Given the description of an element on the screen output the (x, y) to click on. 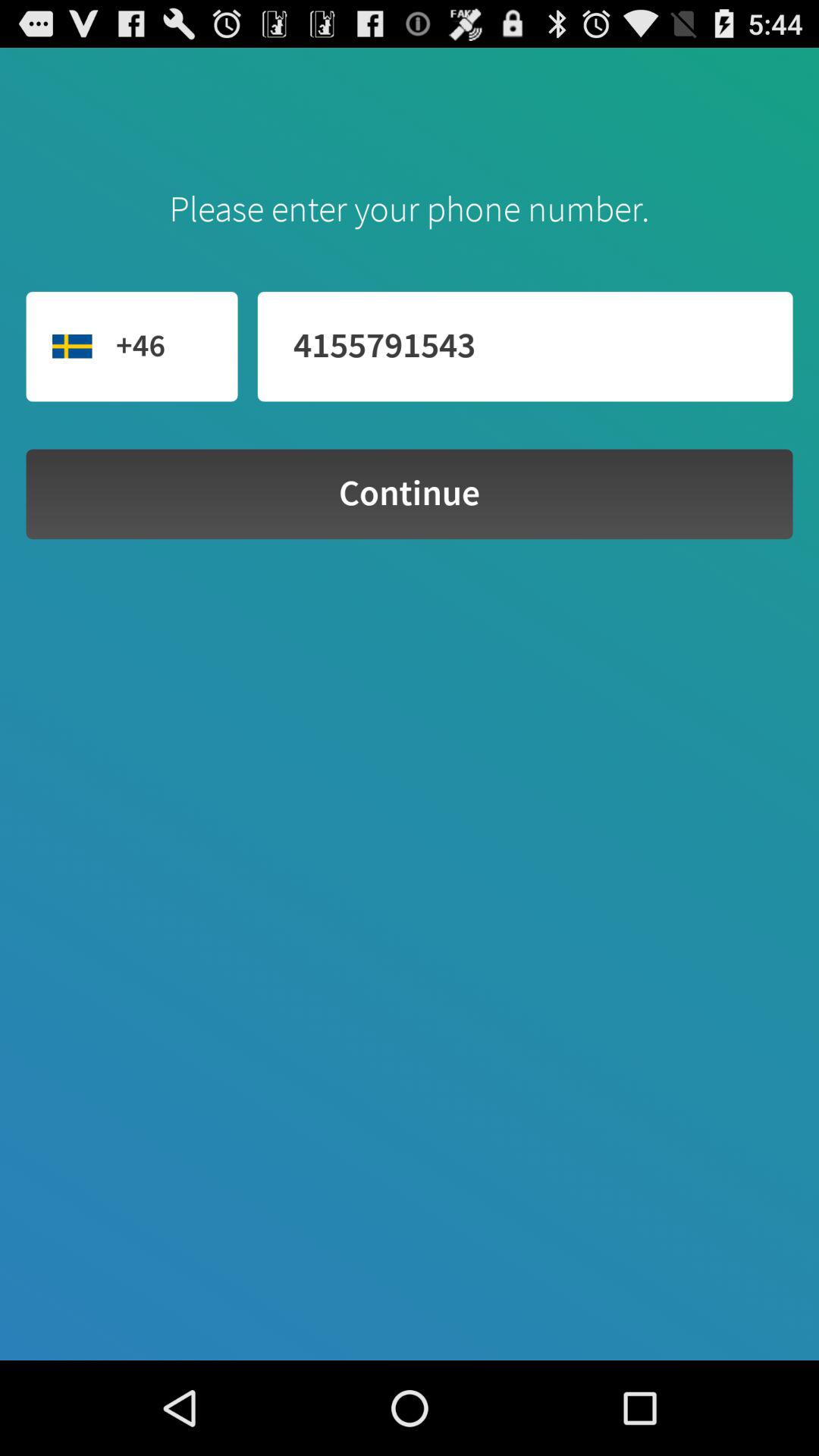
tap the continue icon (409, 494)
